Given the description of an element on the screen output the (x, y) to click on. 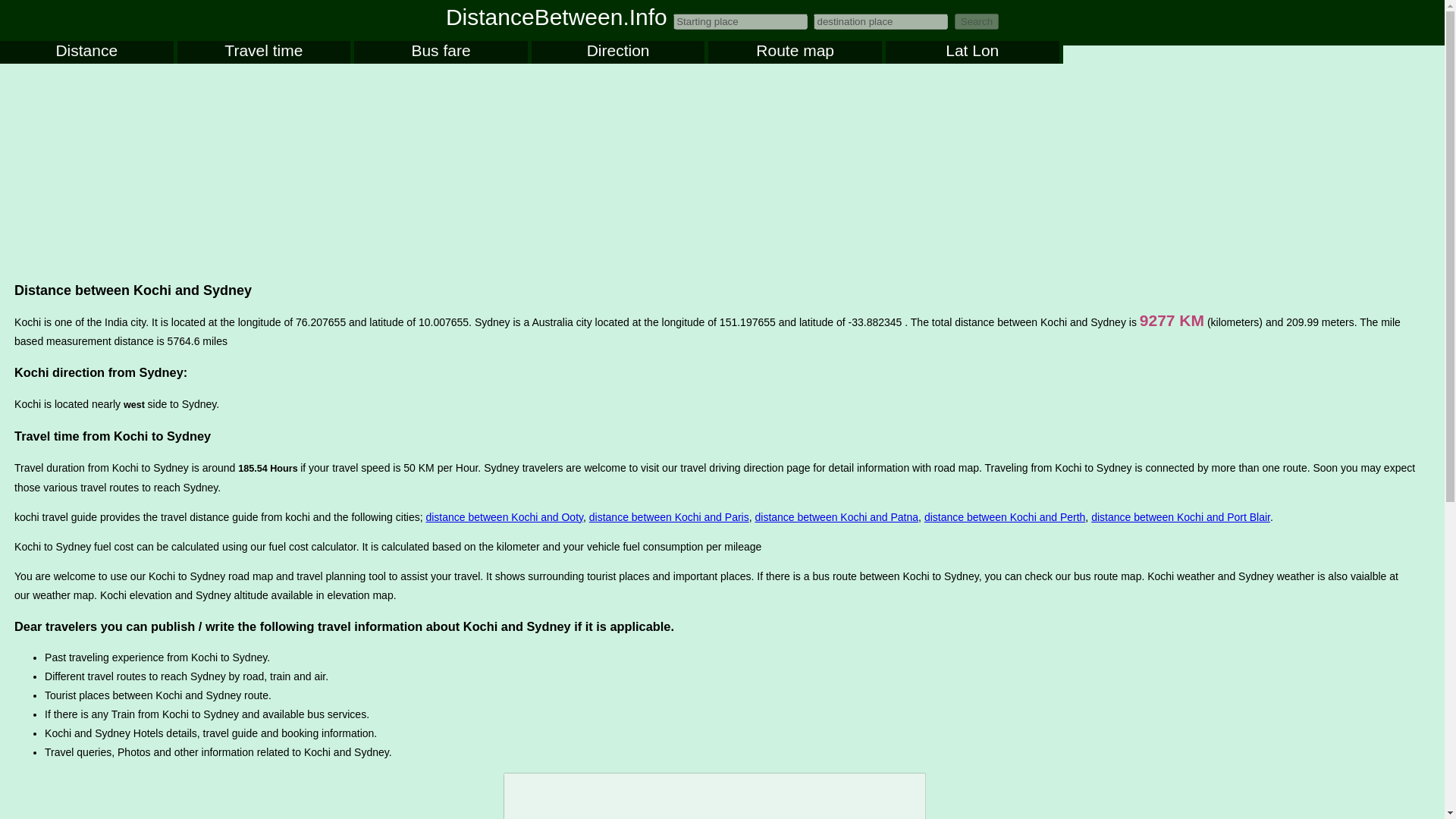
Distance (86, 51)
Direction (617, 51)
Search (976, 21)
distance between Kochi and Paris (669, 517)
Bus fare (440, 51)
Starting place (740, 21)
distance between Kochi and Patna (836, 517)
distance between Kochi and Ooty (504, 517)
destination place (880, 21)
